Given the description of an element on the screen output the (x, y) to click on. 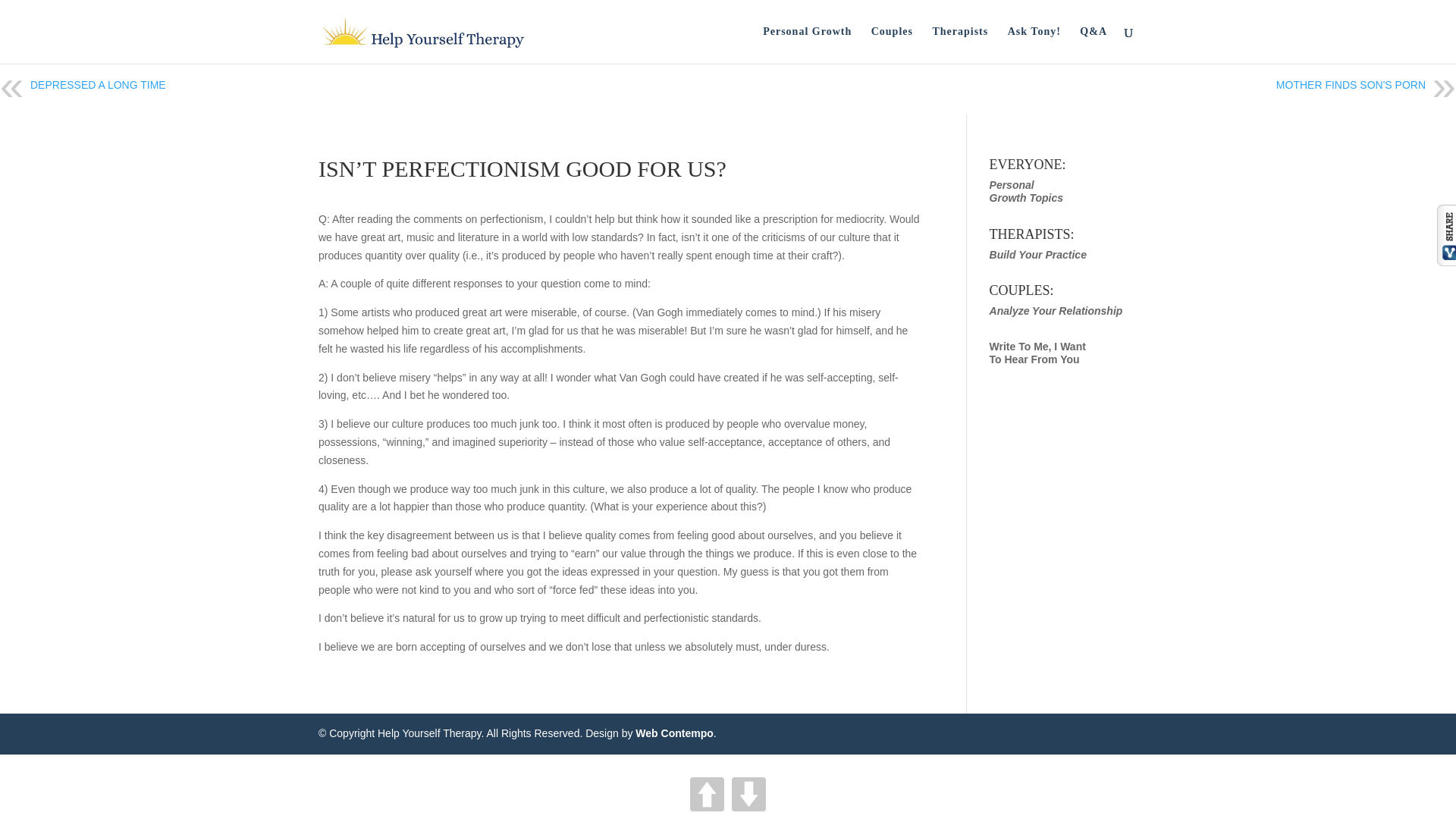
Personal Growth (806, 44)
Couples (891, 44)
Therapists (959, 44)
MOTHER FINDS SON'S PORN (1350, 84)
DEPRESSED A LONG TIME (1038, 352)
Build Your Practice (97, 84)
Analyze Your Relationship (1038, 254)
Web Contempo (1056, 310)
Ask Tony! (673, 733)
